Given the description of an element on the screen output the (x, y) to click on. 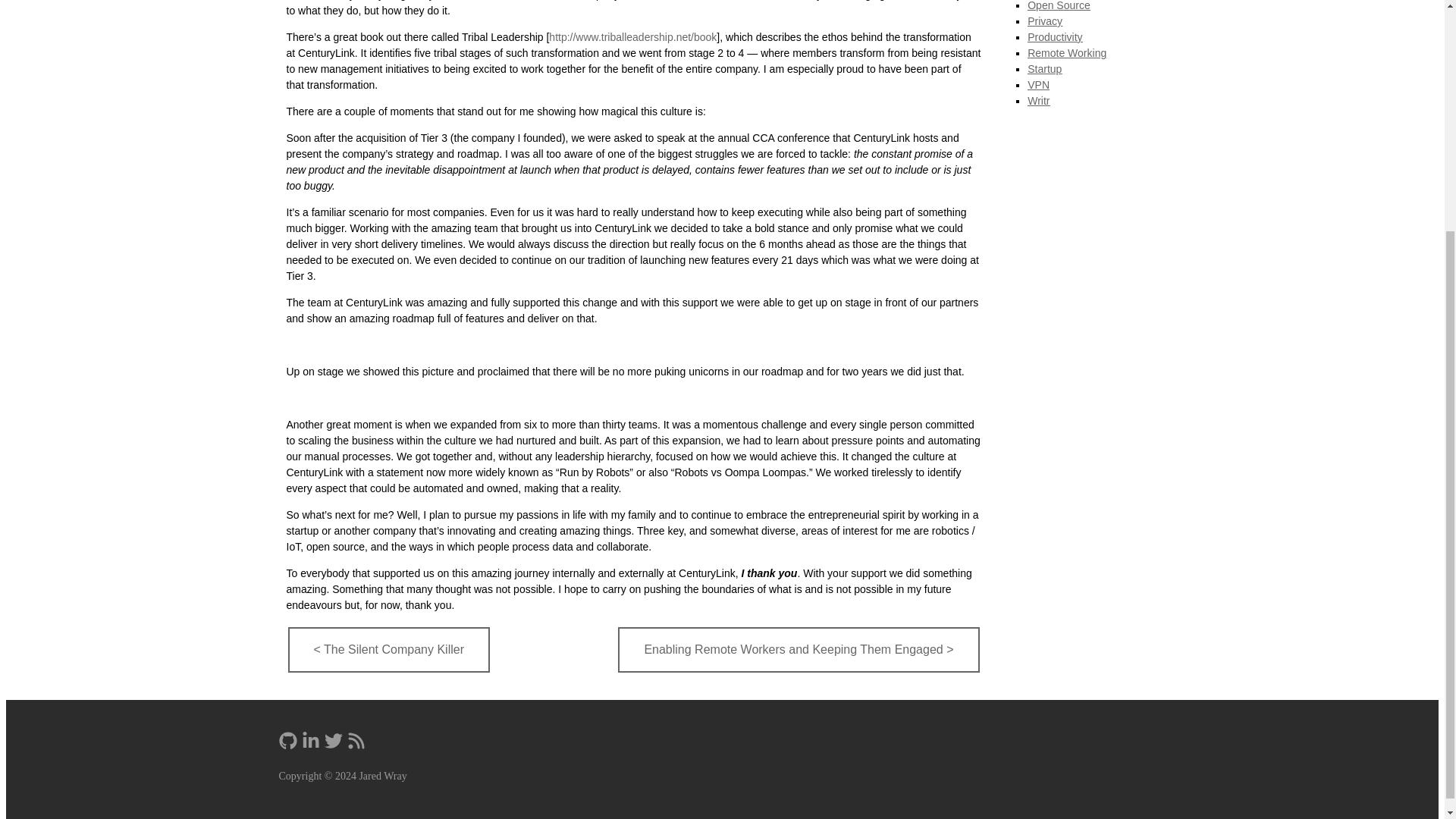
Remote Working (1066, 52)
Open Source (1058, 5)
VPN (1038, 84)
Privacy (1044, 21)
Writr (1038, 101)
Startup (1044, 69)
Productivity (1054, 37)
